Given the description of an element on the screen output the (x, y) to click on. 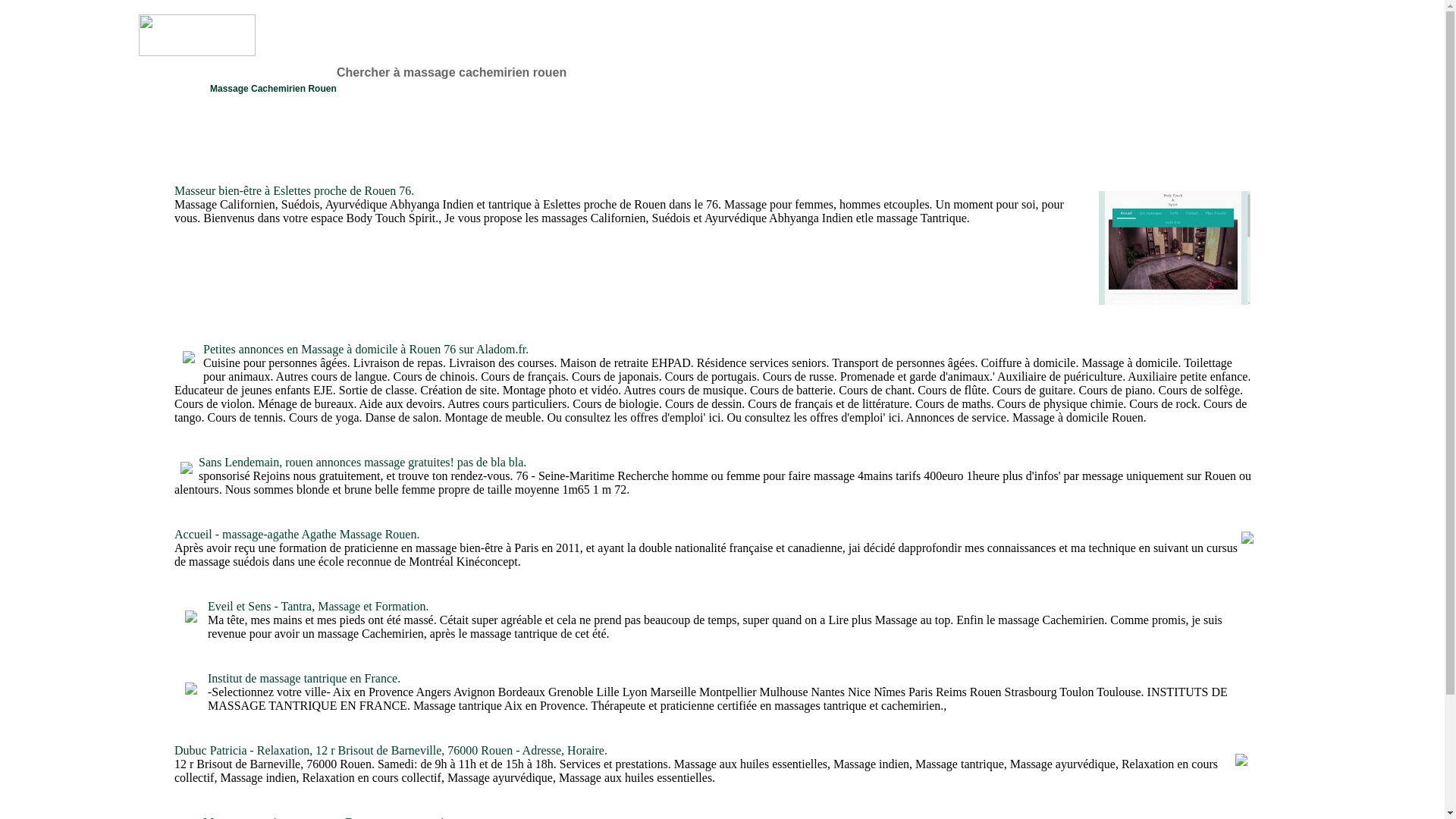
petites annonces amoureuses Element type: text (91, 223)
Institut de massage tantrique en France. Element type: text (303, 677)
Eveil et Sens - Tantra, Massage et Formation. Element type: text (317, 605)
fauteuil massant occasion Element type: text (69, 87)
tarif plombier geneve Element type: text (79, 68)
salon de massage asiatique rouen Element type: text (66, 169)
massage rouen pas cher Element type: text (73, 196)
massage naturiste rouen Element type: text (73, 141)
massage chinois rouen Element type: text (76, 250)
Accueil - massage-agathe Agathe Massage Rouen. Element type: text (296, 533)
site de traduction anglais fiable Element type: text (70, 114)
